Given the description of an element on the screen output the (x, y) to click on. 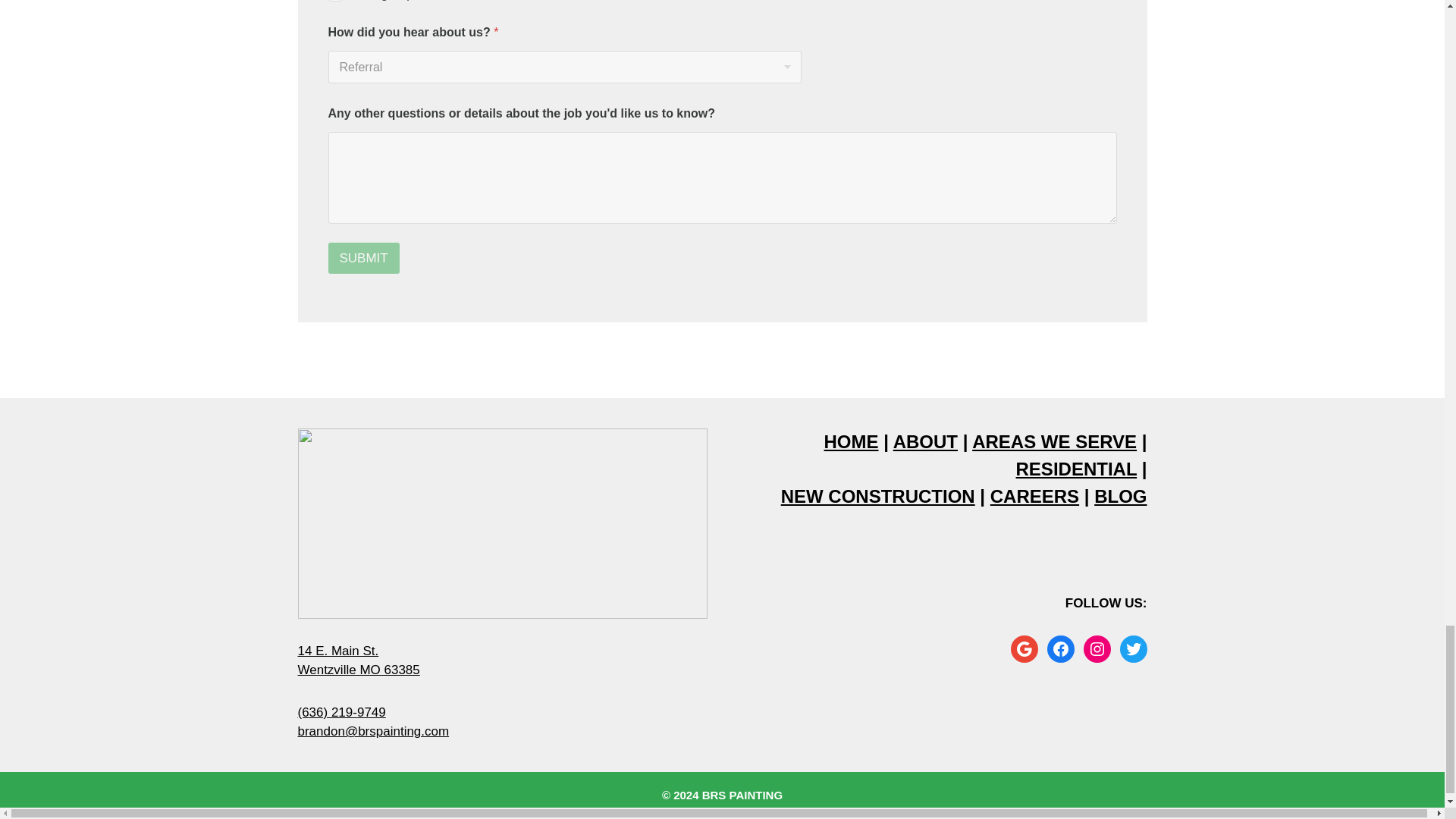
RESIDENTIAL (1076, 468)
NEW CONSTRUCTION (877, 496)
ABOUT (925, 441)
SUBMIT (362, 257)
HOME (850, 441)
CAREERS (1034, 496)
BLOG (1120, 496)
AREAS WE SERVE (358, 660)
